Given the description of an element on the screen output the (x, y) to click on. 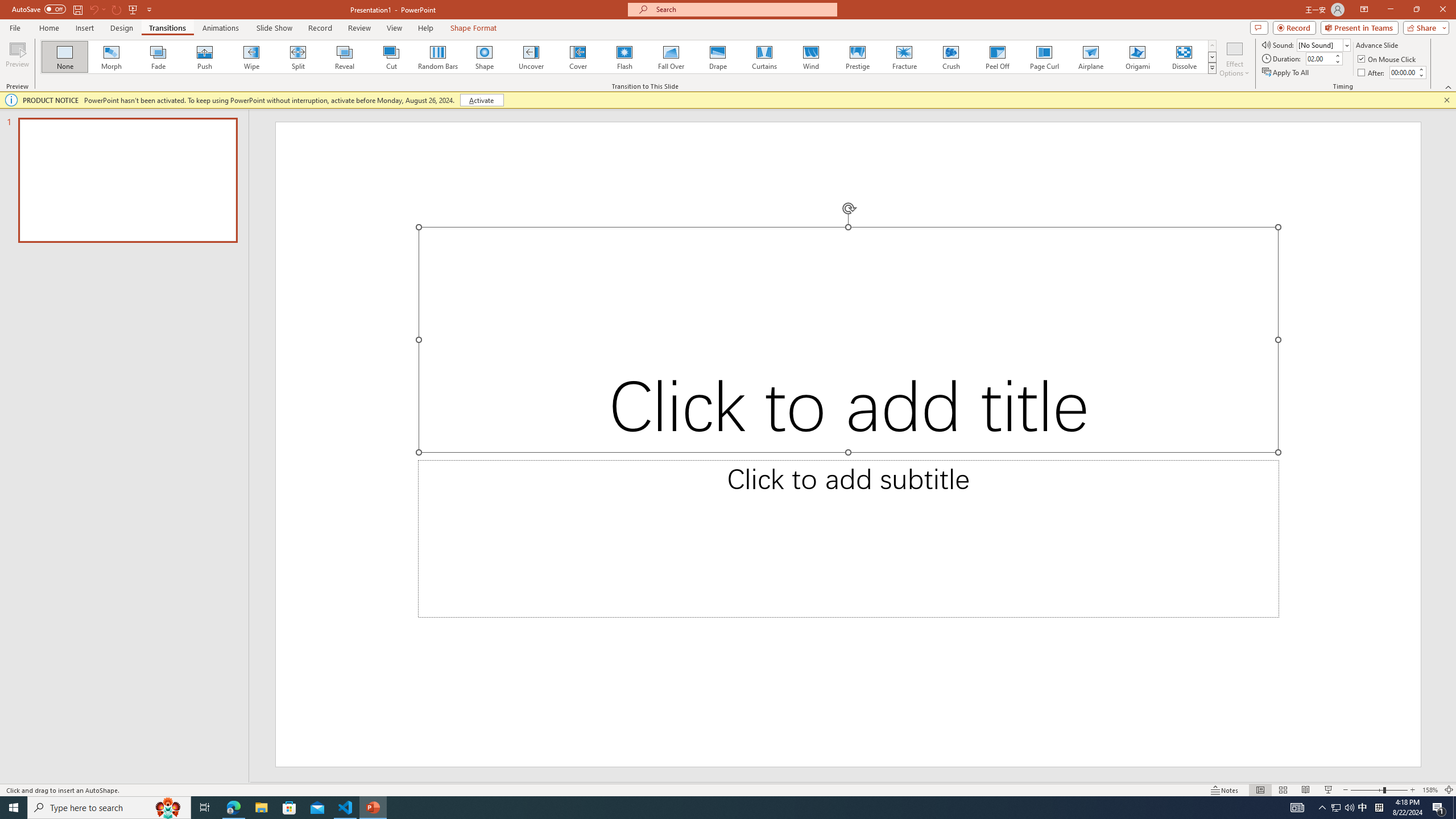
Wind (810, 56)
AutomationID: AnimationTransitionGallery (628, 56)
Zoom 158% (1430, 790)
Crush (950, 56)
Dissolve (1183, 56)
Flash (624, 56)
None (65, 56)
